Given the description of an element on the screen output the (x, y) to click on. 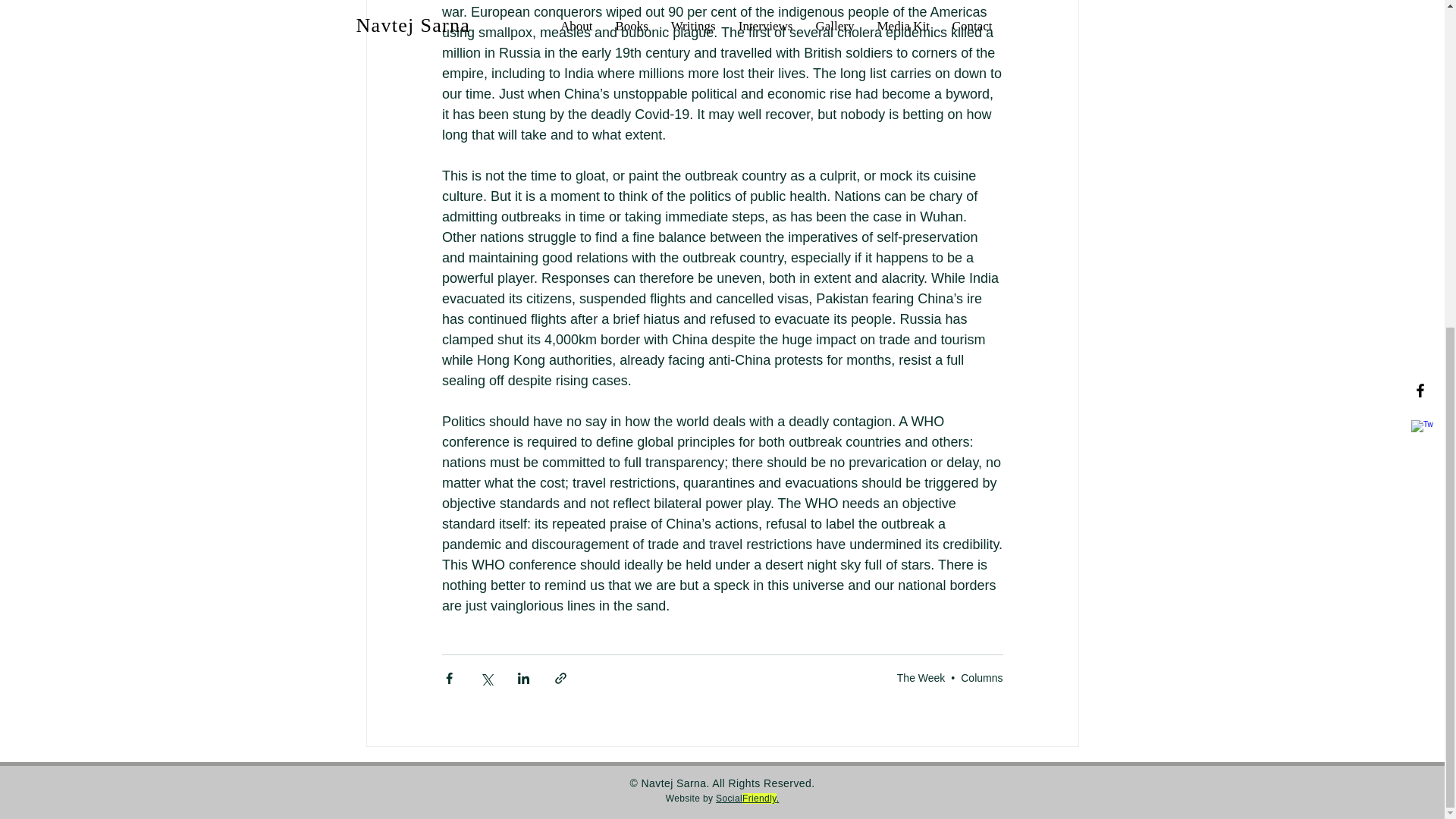
Columns (981, 676)
The Week (920, 676)
SocialFriendly. (747, 798)
